Given the description of an element on the screen output the (x, y) to click on. 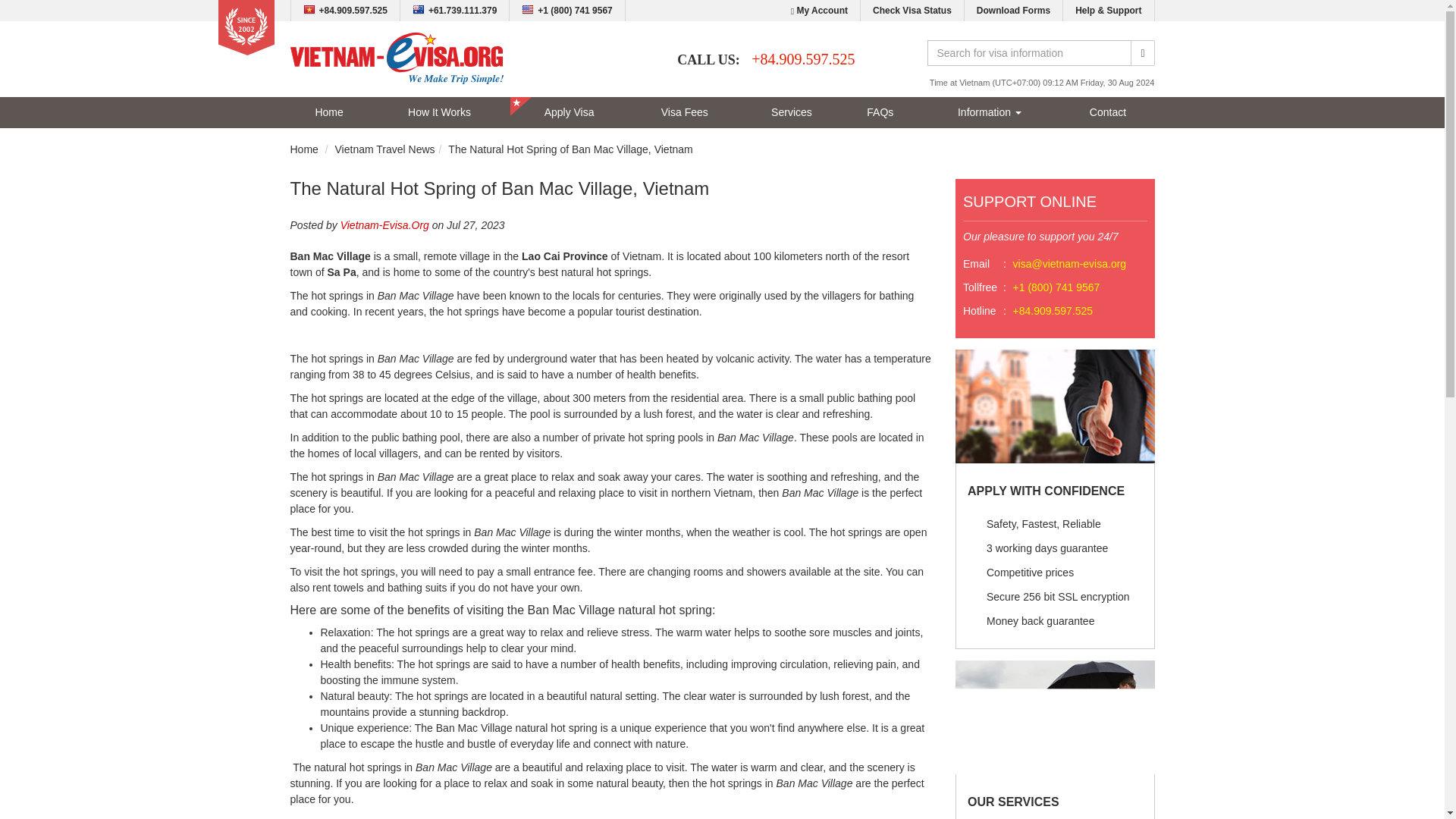
Vietnam Visa Information (988, 112)
Toll free (566, 10)
Home (328, 112)
My Account (819, 10)
Hotline in Vietnam (345, 10)
Download Forms (1012, 10)
Hotline in Australia (454, 10)
Home (303, 149)
How It Works (439, 112)
FAQs (880, 112)
